Given the description of an element on the screen output the (x, y) to click on. 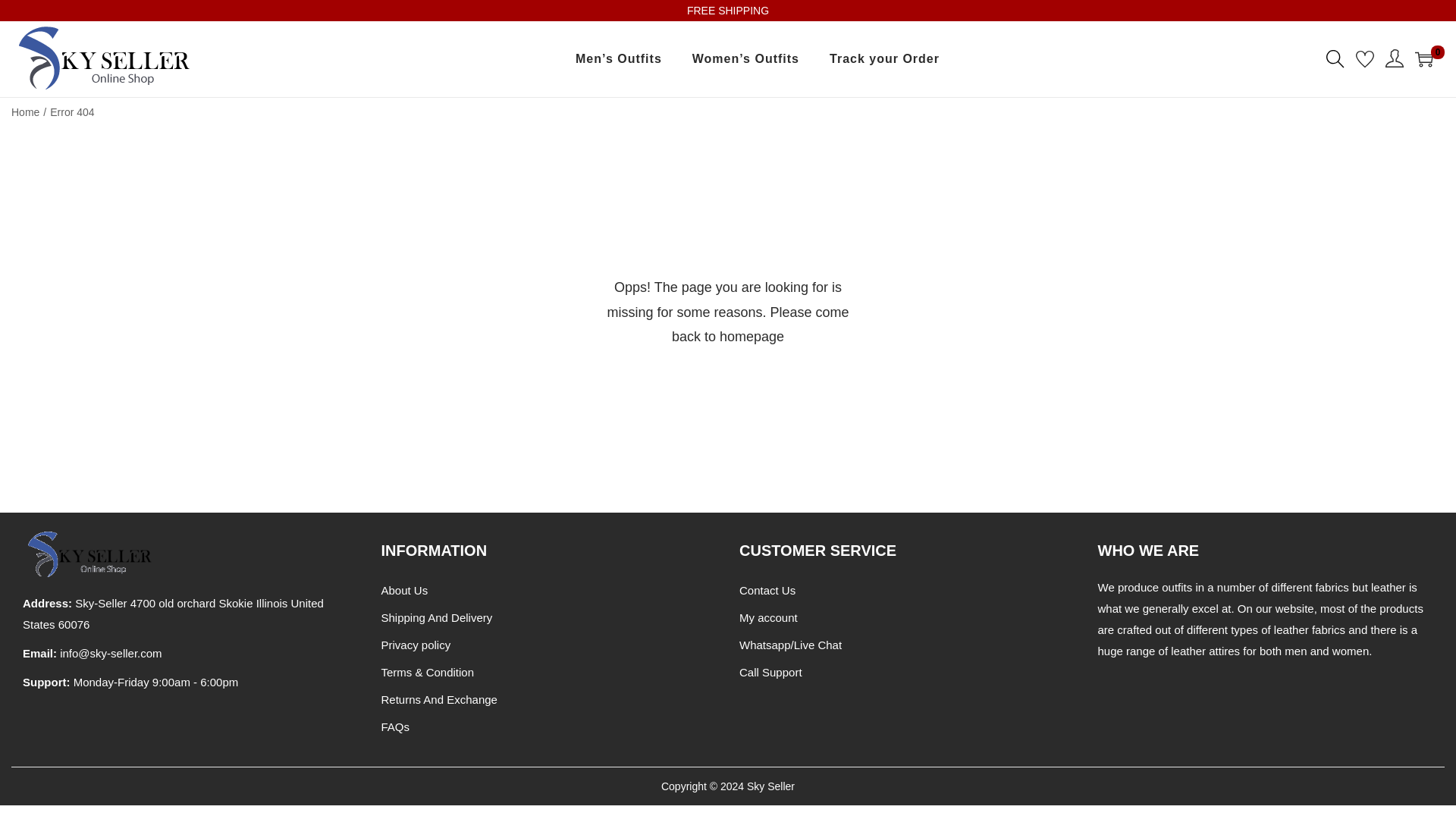
Home (25, 111)
Shipping And Delivery (436, 617)
Call Support (770, 671)
Contact Us (766, 590)
0 (1423, 58)
Privacy policy (414, 644)
About Us (404, 590)
My account (768, 617)
Track your Order (884, 59)
Returns And Exchange (438, 698)
